Given the description of an element on the screen output the (x, y) to click on. 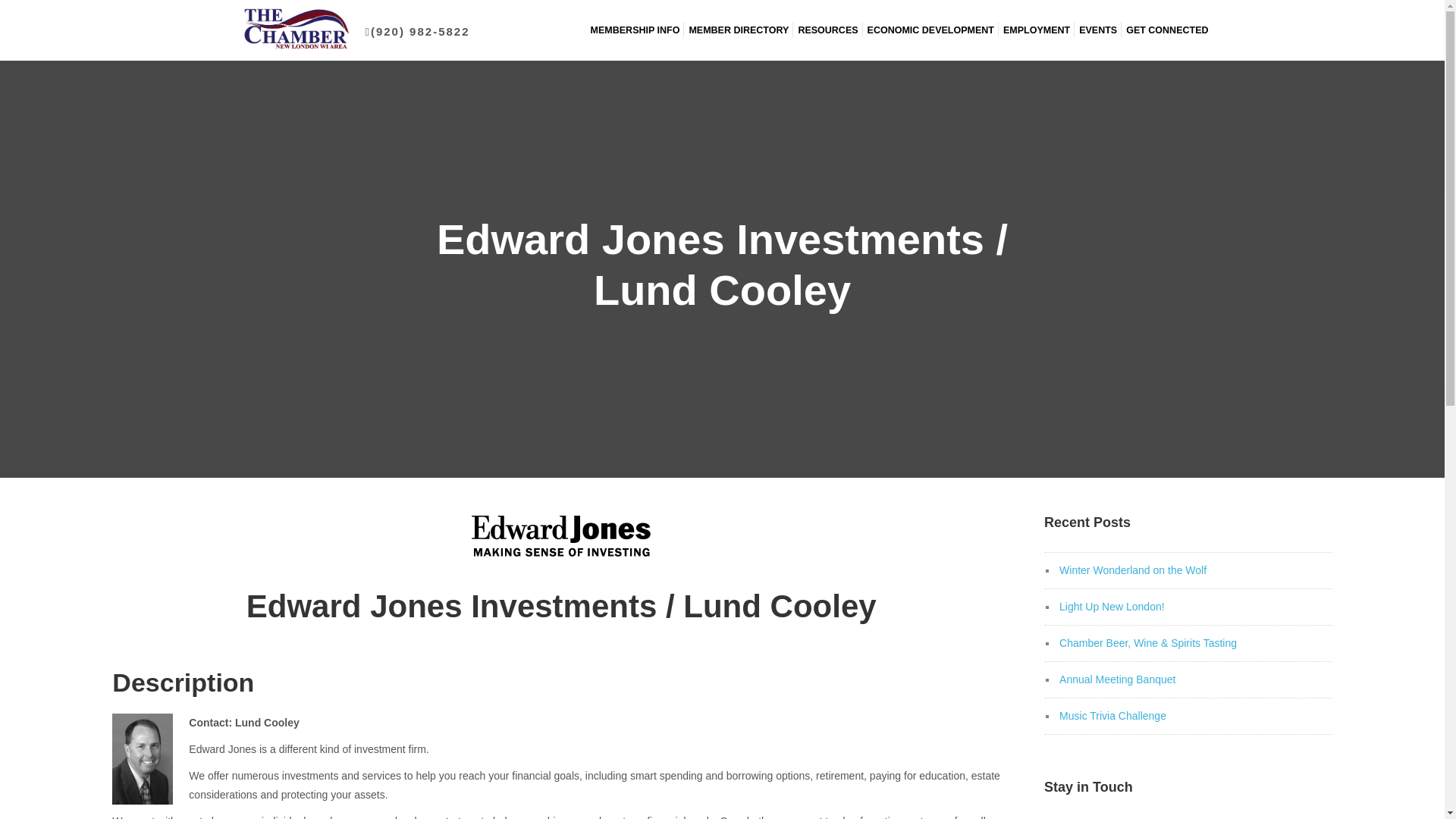
MEMBER DIRECTORY (738, 30)
EVENTS (1097, 30)
RESOURCES (827, 30)
MEMBERSHIP INFO (635, 30)
EMPLOYMENT (1036, 30)
ECONOMIC DEVELOPMENT (930, 30)
GET CONNECTED (1166, 30)
